Given the description of an element on the screen output the (x, y) to click on. 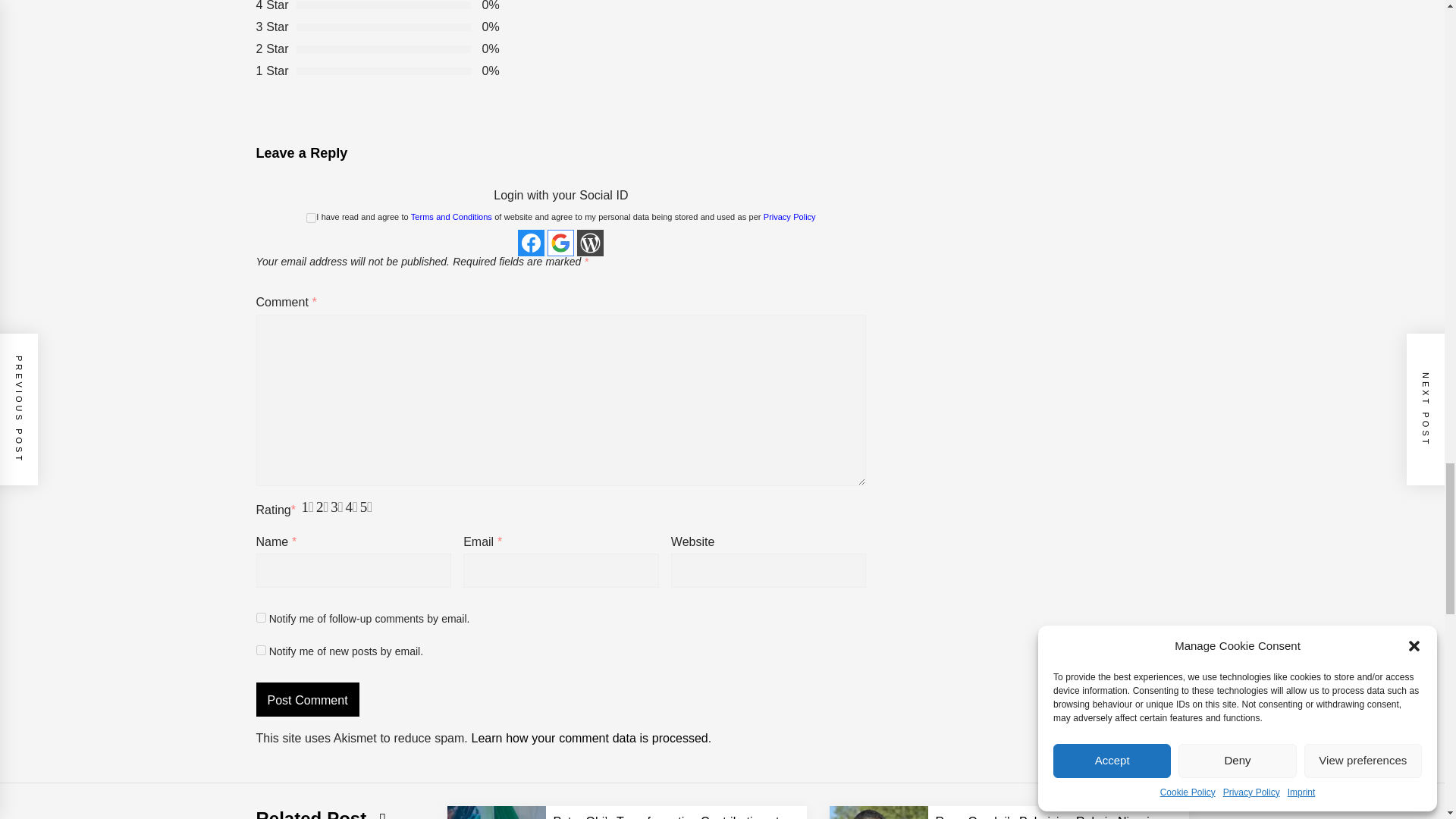
subscribe (261, 617)
1 (310, 217)
subscribe (261, 650)
Post Comment (307, 699)
